Given the description of an element on the screen output the (x, y) to click on. 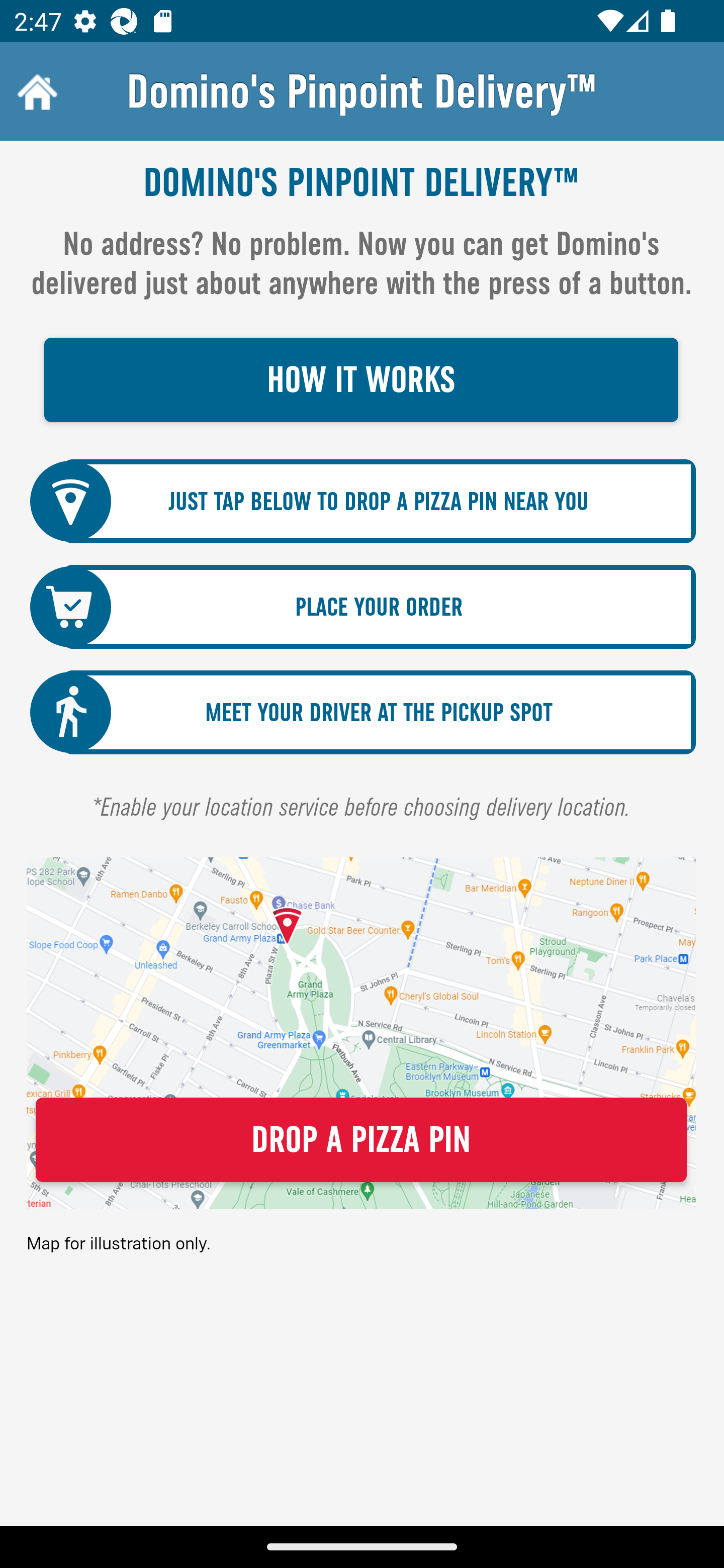
Home (35, 91)
DROP A PIZZA PIN (361, 1139)
